Given the description of an element on the screen output the (x, y) to click on. 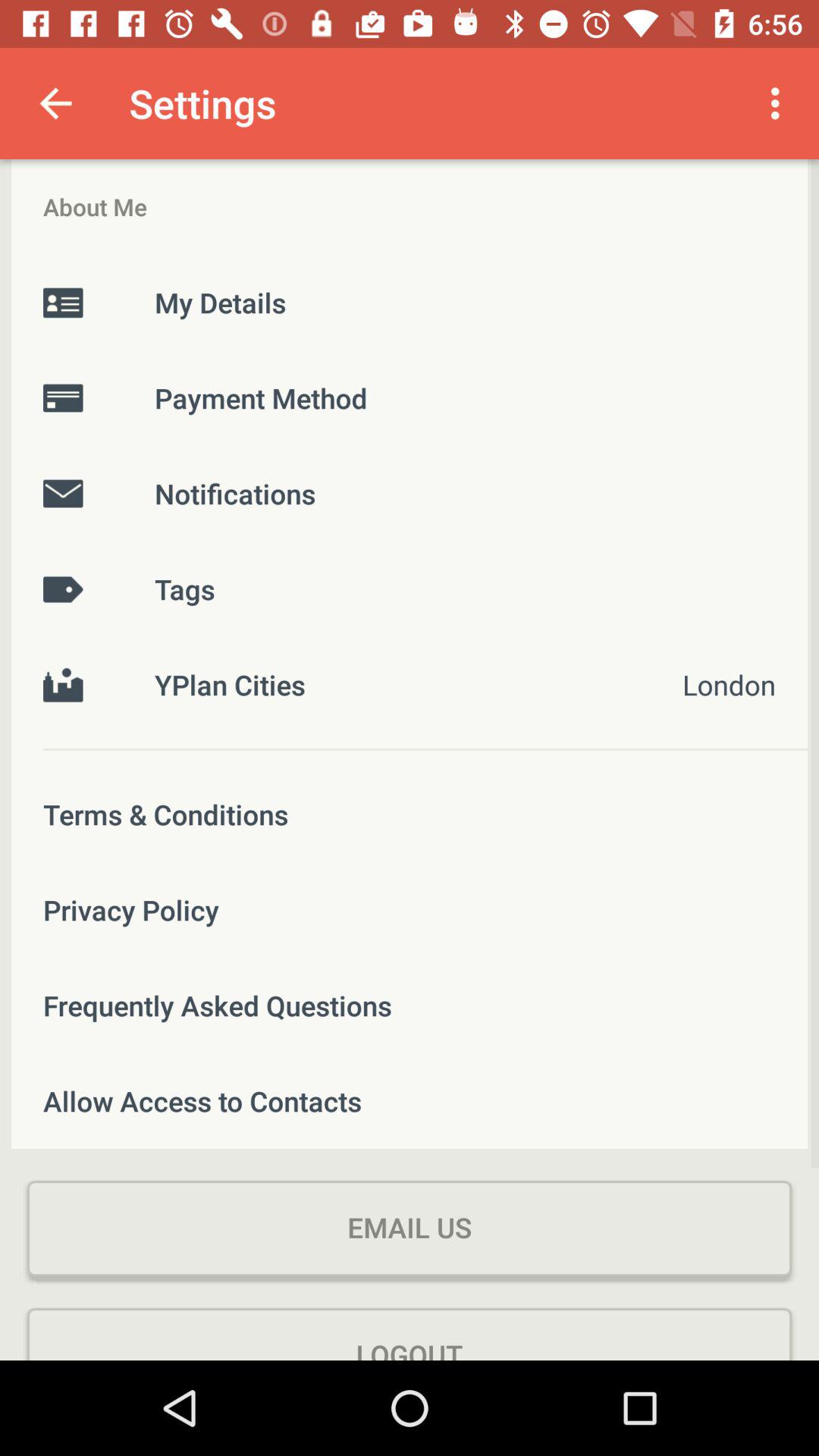
select the item above the notifications (409, 397)
